Given the description of an element on the screen output the (x, y) to click on. 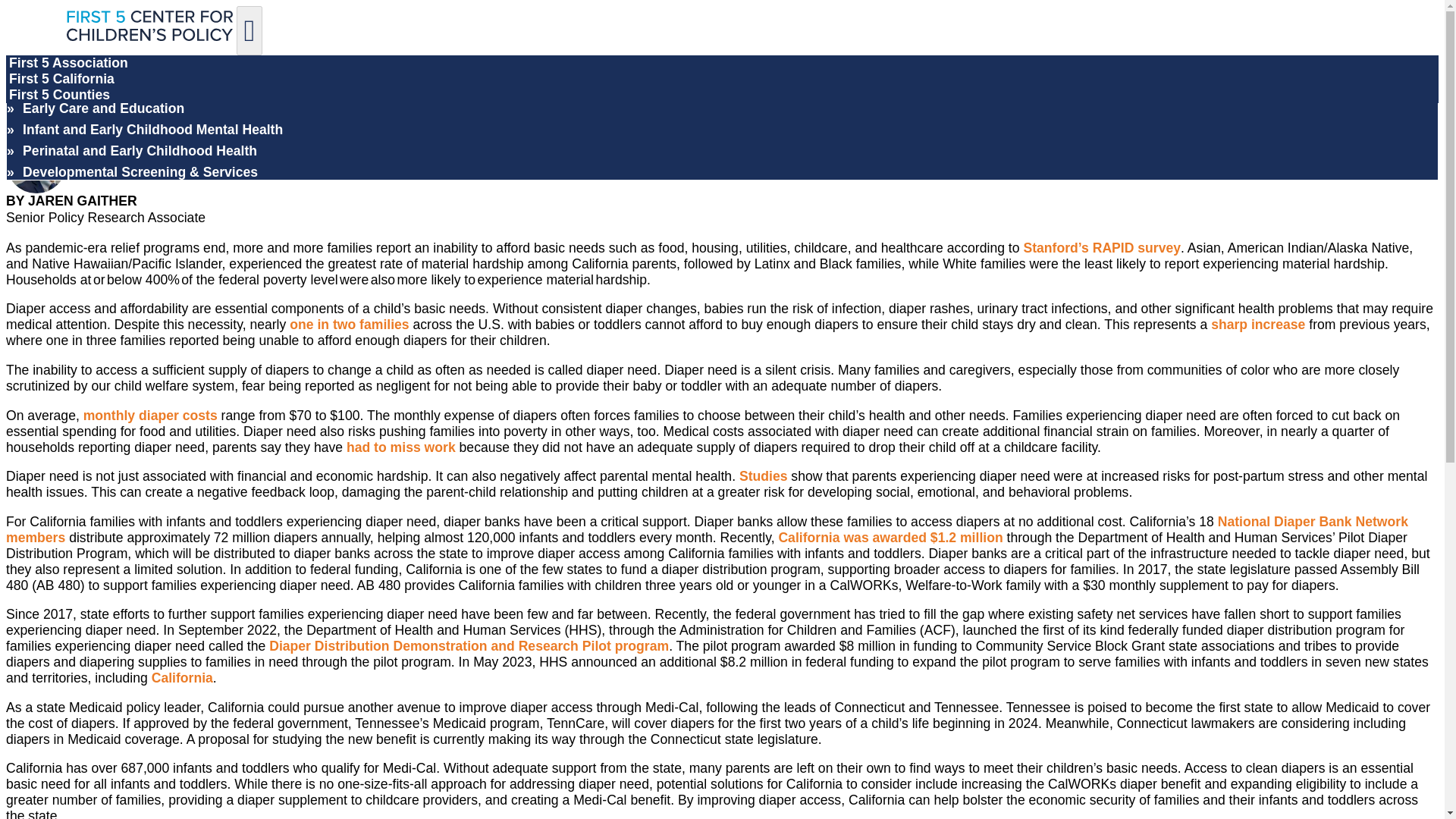
BY JAREN GAITHER (70, 200)
National Diaper Bank Network members (706, 529)
Home Visiting (67, 87)
First 5 Counties (59, 94)
Early Care and Education (103, 108)
had to miss work (400, 447)
California (181, 677)
one in two families (349, 324)
Perinatal and Early Childhood Health (140, 150)
Infant and Early Childhood Mental Health (152, 129)
sharp increase (1257, 324)
ABOUT US (132, 76)
BLOG (116, 108)
Studies (763, 476)
Newsroom (42, 78)
